Given the description of an element on the screen output the (x, y) to click on. 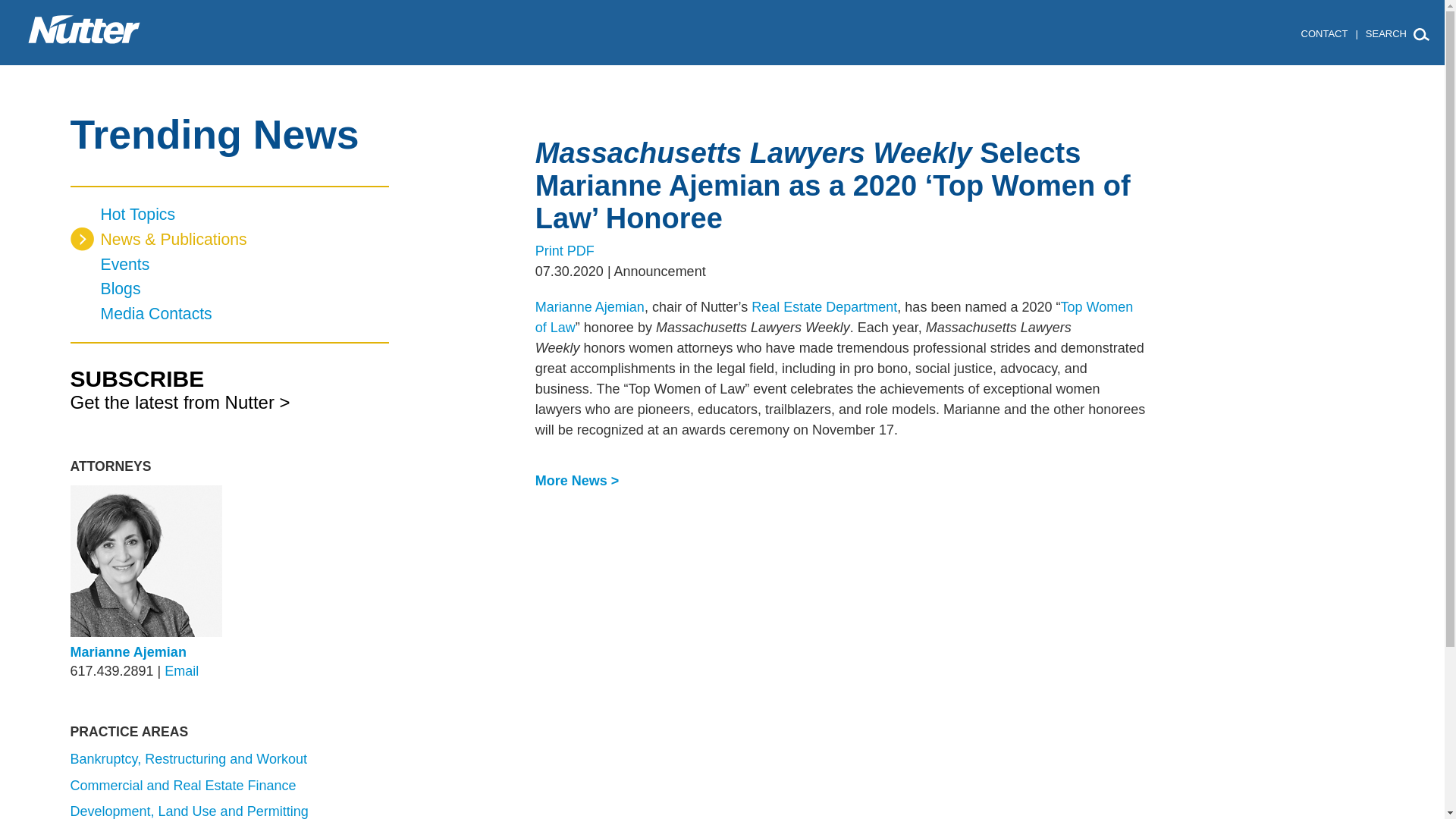
Development, Land Use and Permitting (188, 811)
Marianne Ajemian (590, 306)
Hot Topics (228, 214)
Print PDF (564, 250)
Blogs (228, 289)
SEARCH (1388, 35)
Real Estate Department (823, 306)
Marianne Ajemian (127, 652)
Commercial and Real Estate Finance (182, 785)
CONTACT (1324, 33)
